Given the description of an element on the screen output the (x, y) to click on. 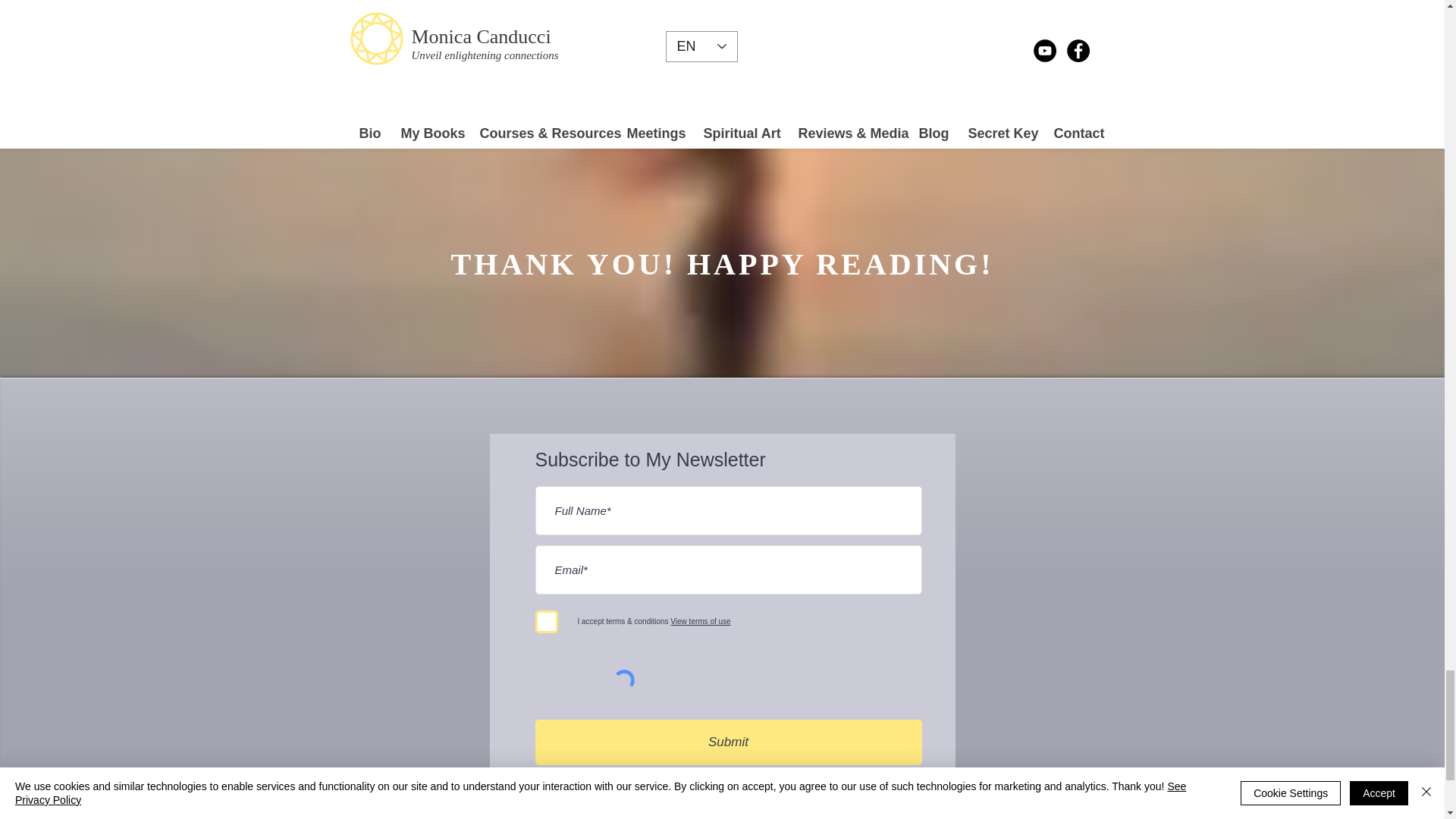
Submit (728, 741)
View terms of use (699, 621)
